Given the description of an element on the screen output the (x, y) to click on. 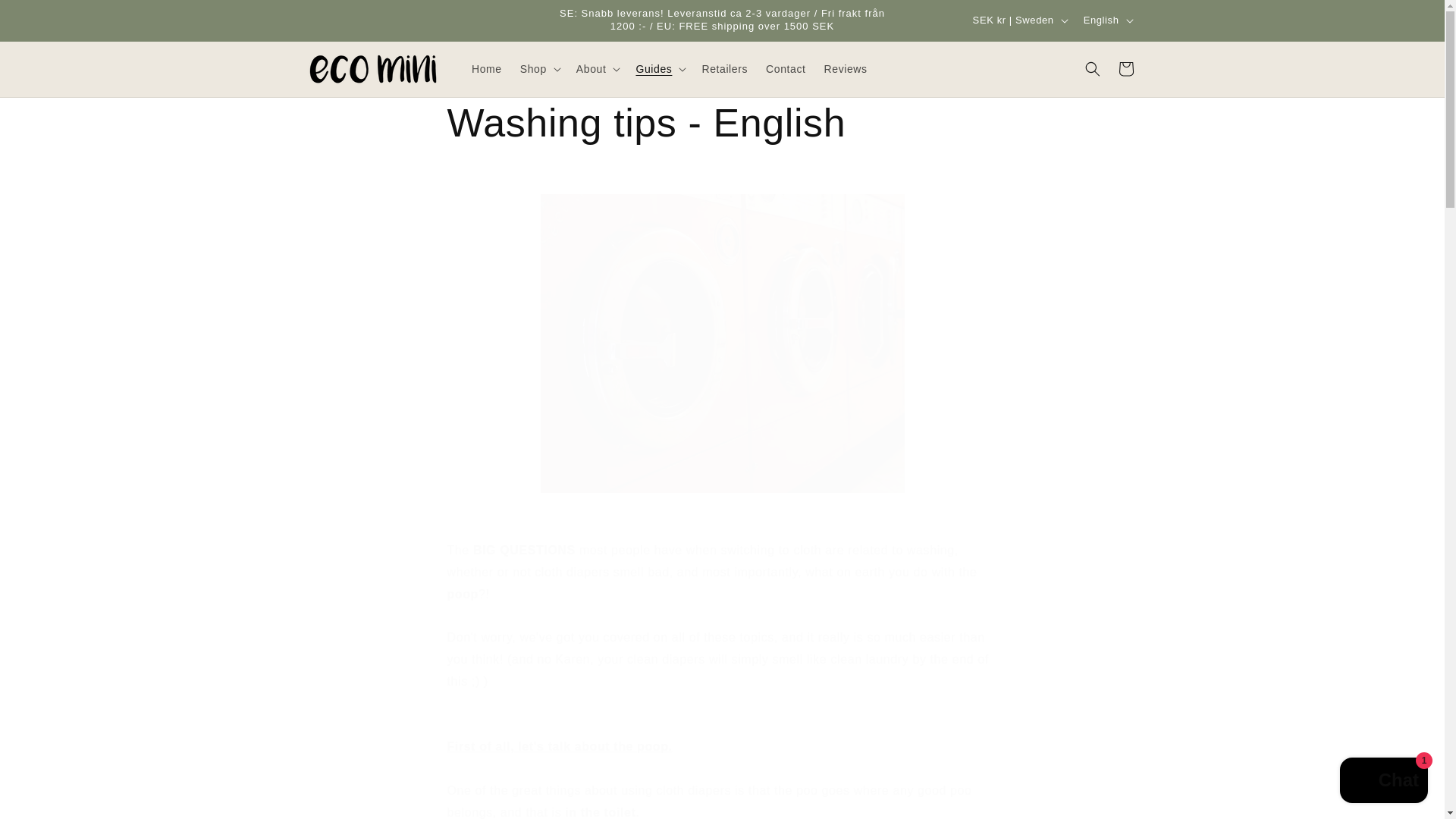
English (1107, 20)
Washing tips - English (721, 123)
Shopify online store chat (1383, 781)
Skip to content (45, 17)
